Given the description of an element on the screen output the (x, y) to click on. 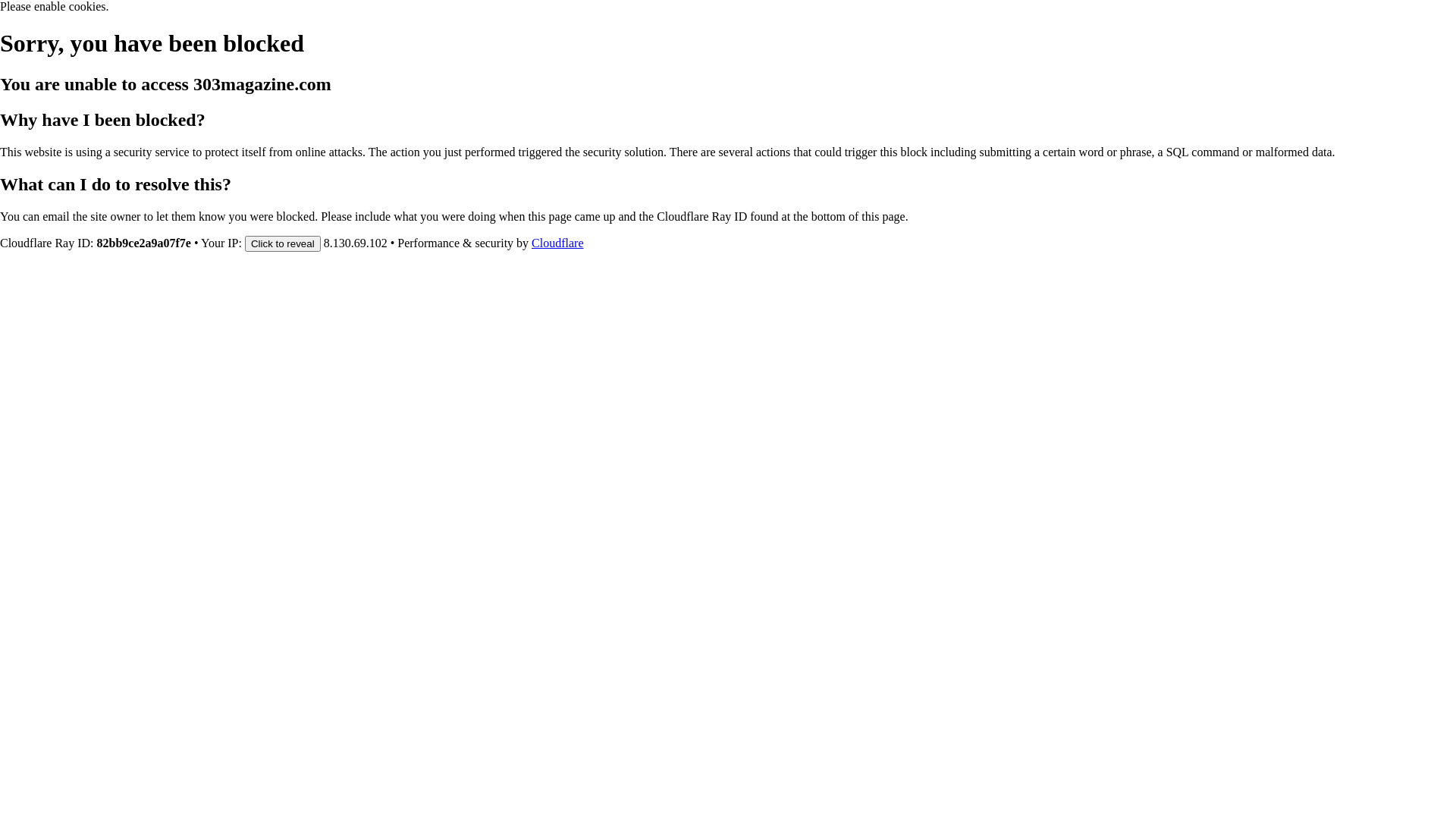
Cloudflare Element type: text (557, 242)
Click to reveal Element type: text (282, 243)
